Given the description of an element on the screen output the (x, y) to click on. 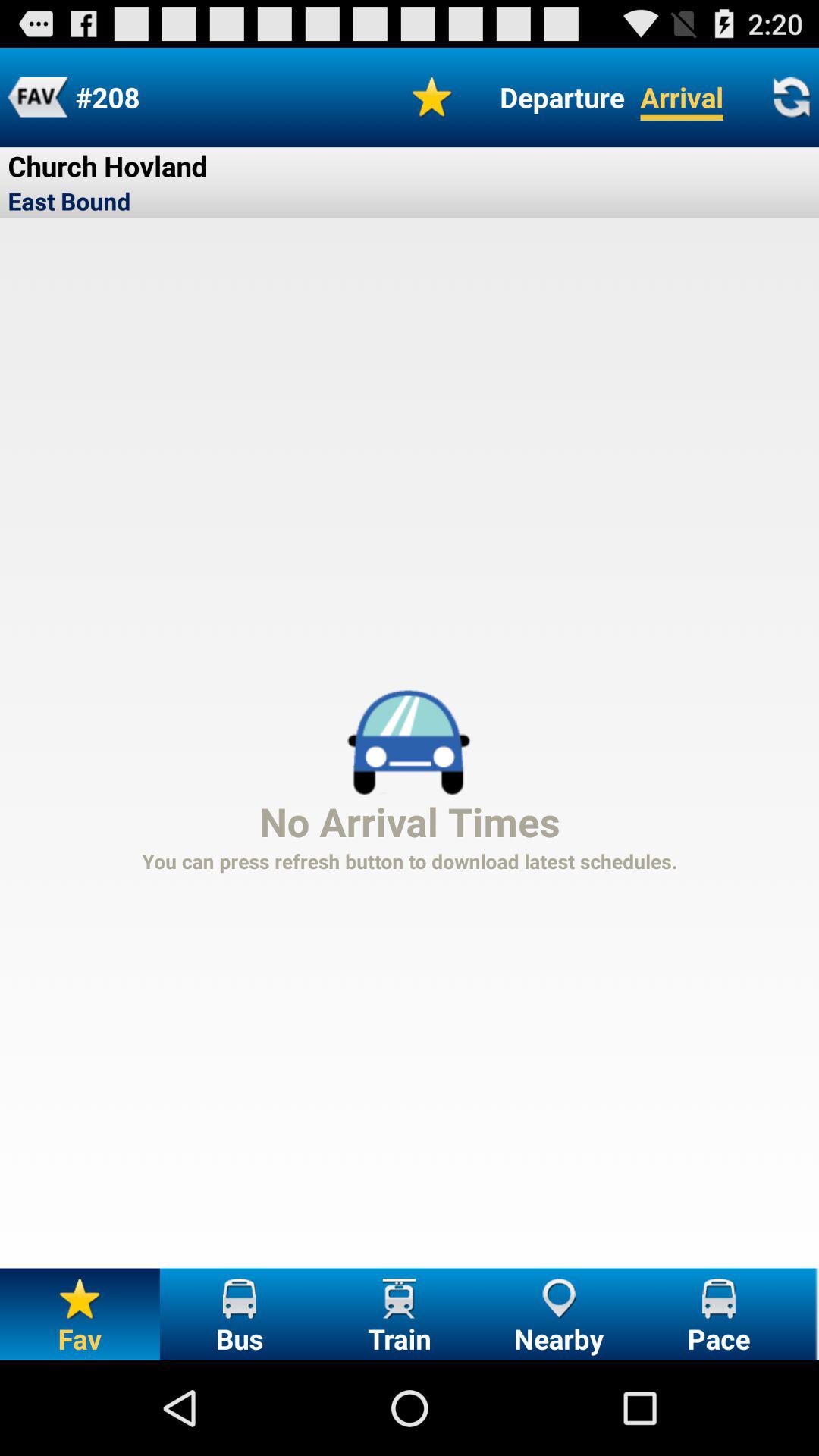
add to favorites (37, 97)
